Given the description of an element on the screen output the (x, y) to click on. 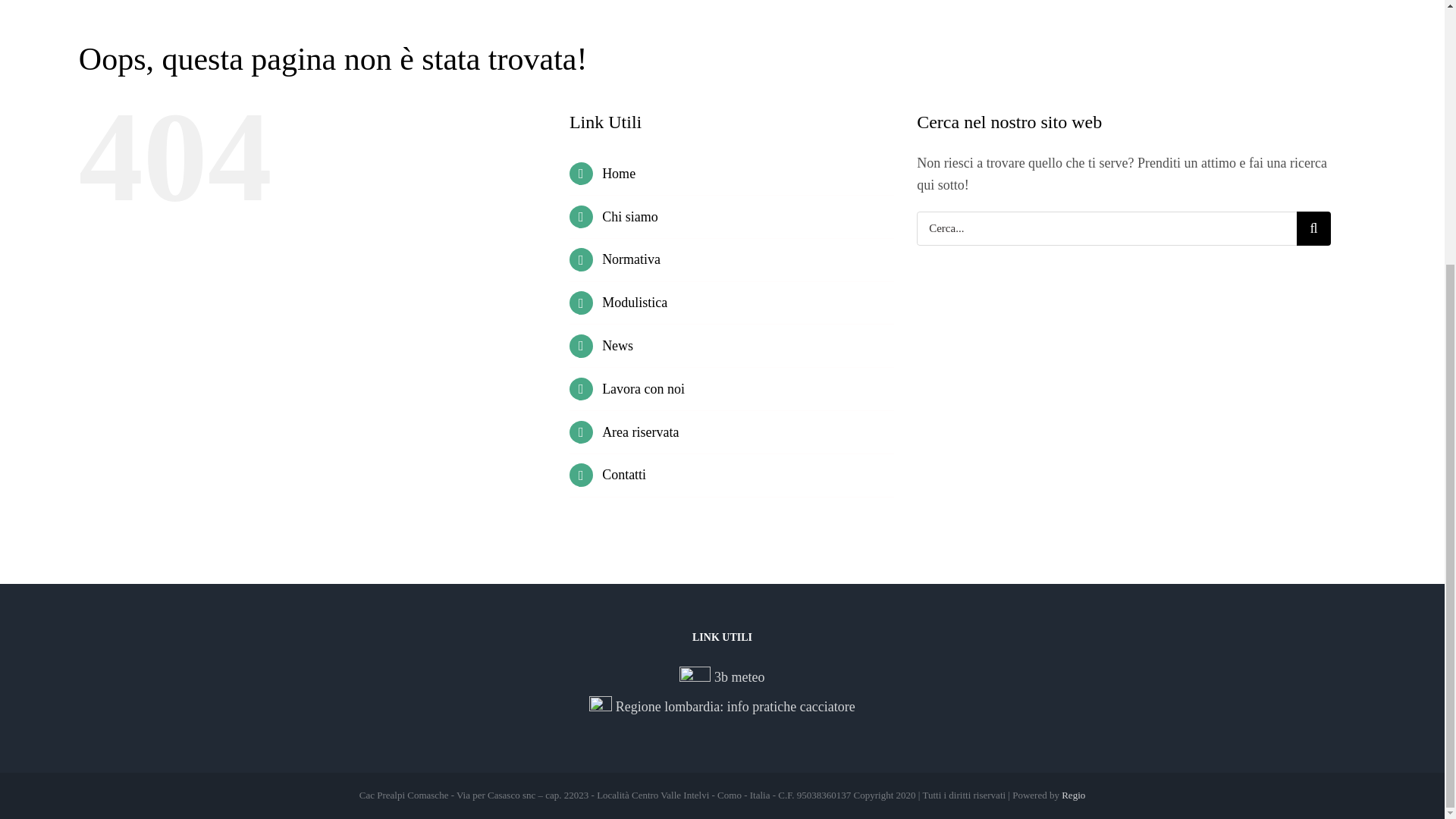
Area riservata (640, 432)
Chi siamo (630, 216)
Home (618, 173)
3b meteo (722, 678)
Lavora con noi (643, 388)
Modulistica (634, 302)
News (617, 345)
Regione lombardia: info pratiche cacciatore (722, 707)
Normativa (631, 258)
Contatti (624, 474)
